Given the description of an element on the screen output the (x, y) to click on. 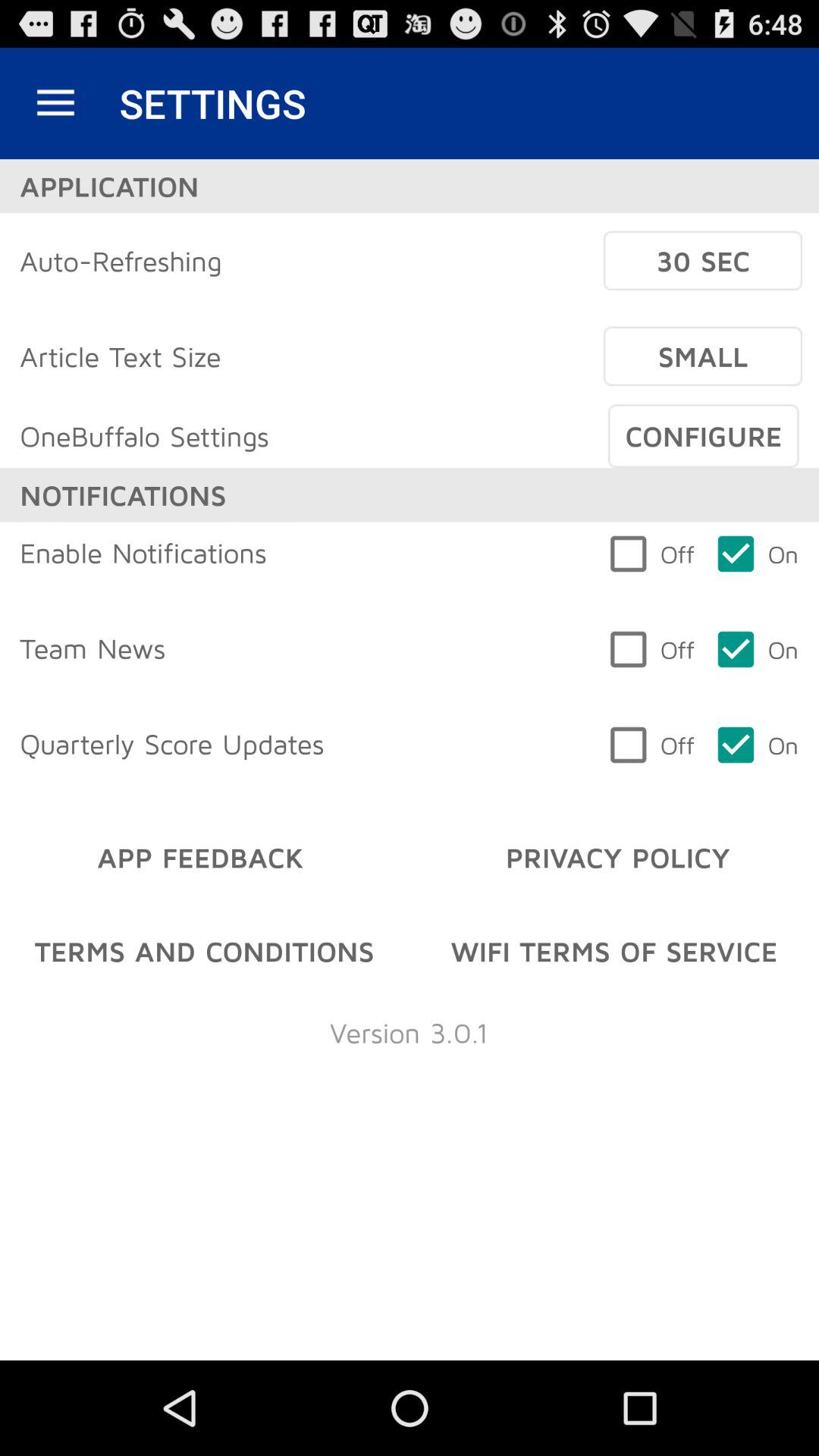
select the icon above the off item (703, 436)
